Given the description of an element on the screen output the (x, y) to click on. 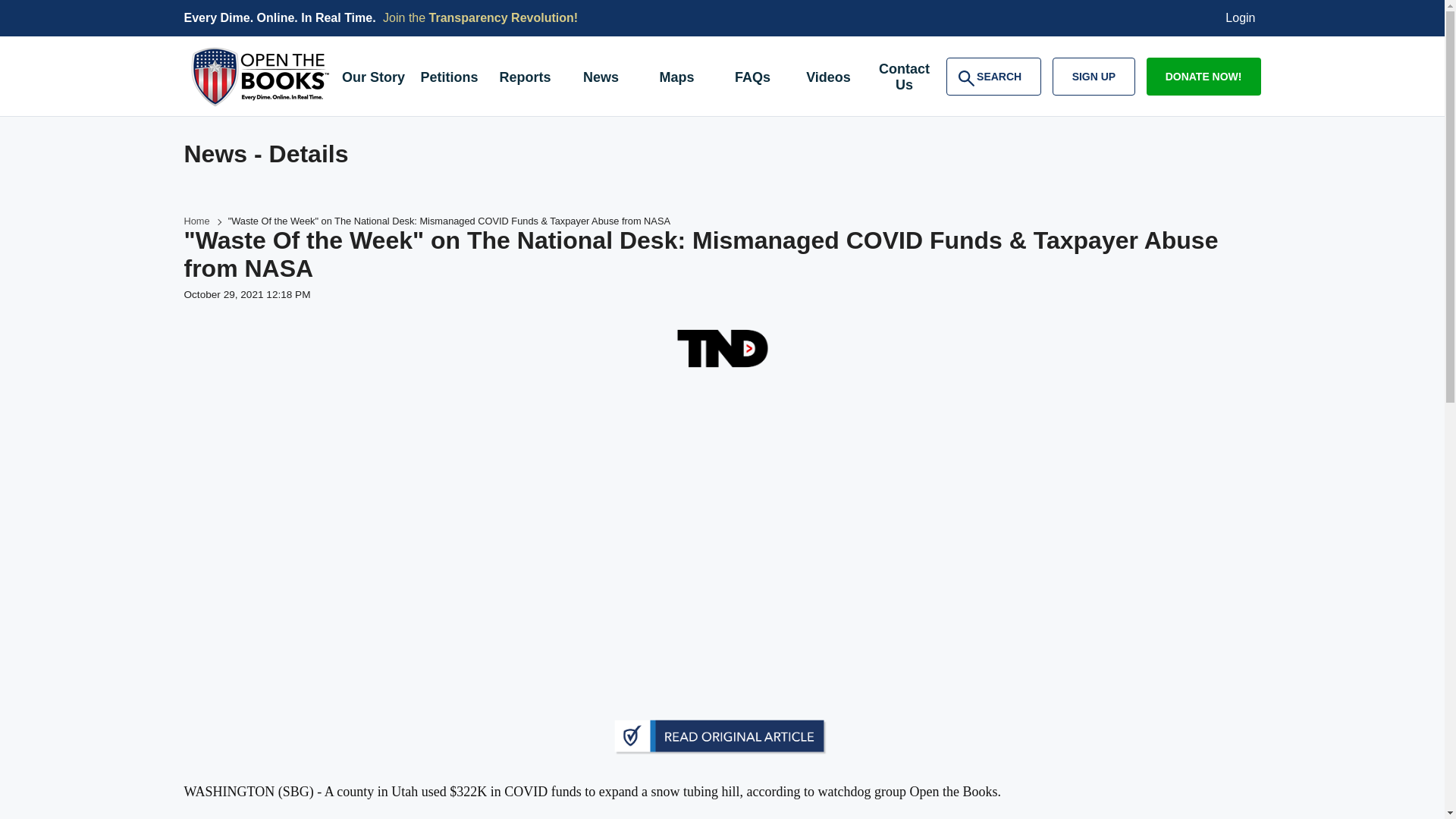
Videos (993, 76)
Petitions (828, 78)
Reports (448, 78)
Home (524, 78)
FAQs (196, 220)
Transparency Revolution! (752, 78)
Login (503, 17)
Our Story (1240, 18)
Maps (372, 78)
SIGN UP (676, 78)
News (1093, 76)
DONATE NOW! (600, 78)
Contact Us (1203, 76)
